Given the description of an element on the screen output the (x, y) to click on. 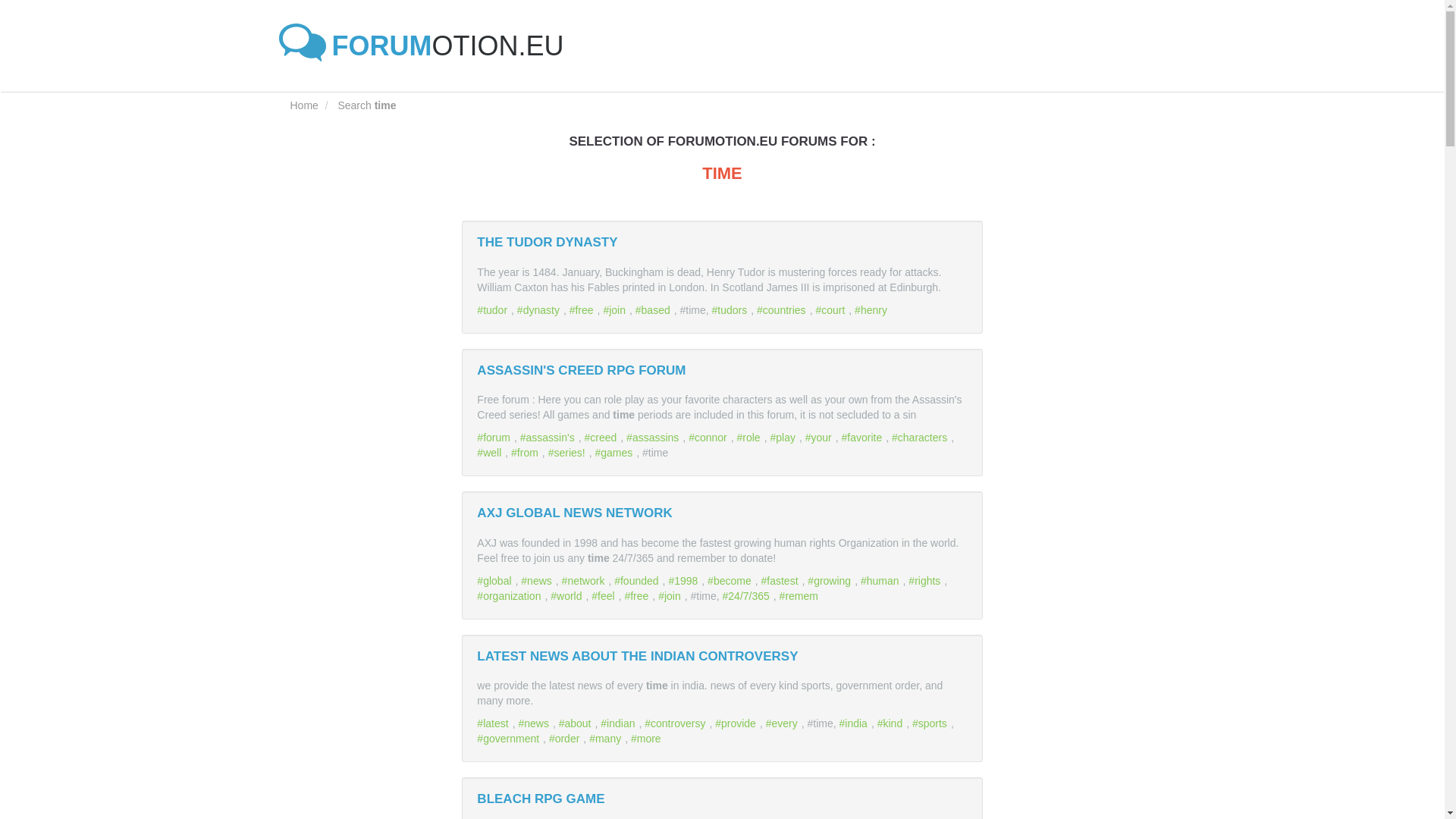
tudors (731, 309)
favorite (863, 437)
tudor (494, 309)
based (654, 309)
creed (601, 437)
from (526, 452)
join (615, 309)
Assassin's Creed RPG Forum (581, 369)
your (820, 437)
role (750, 437)
court (831, 309)
dynasty (539, 309)
court (831, 309)
fastest (781, 580)
assassins (654, 437)
